Given the description of an element on the screen output the (x, y) to click on. 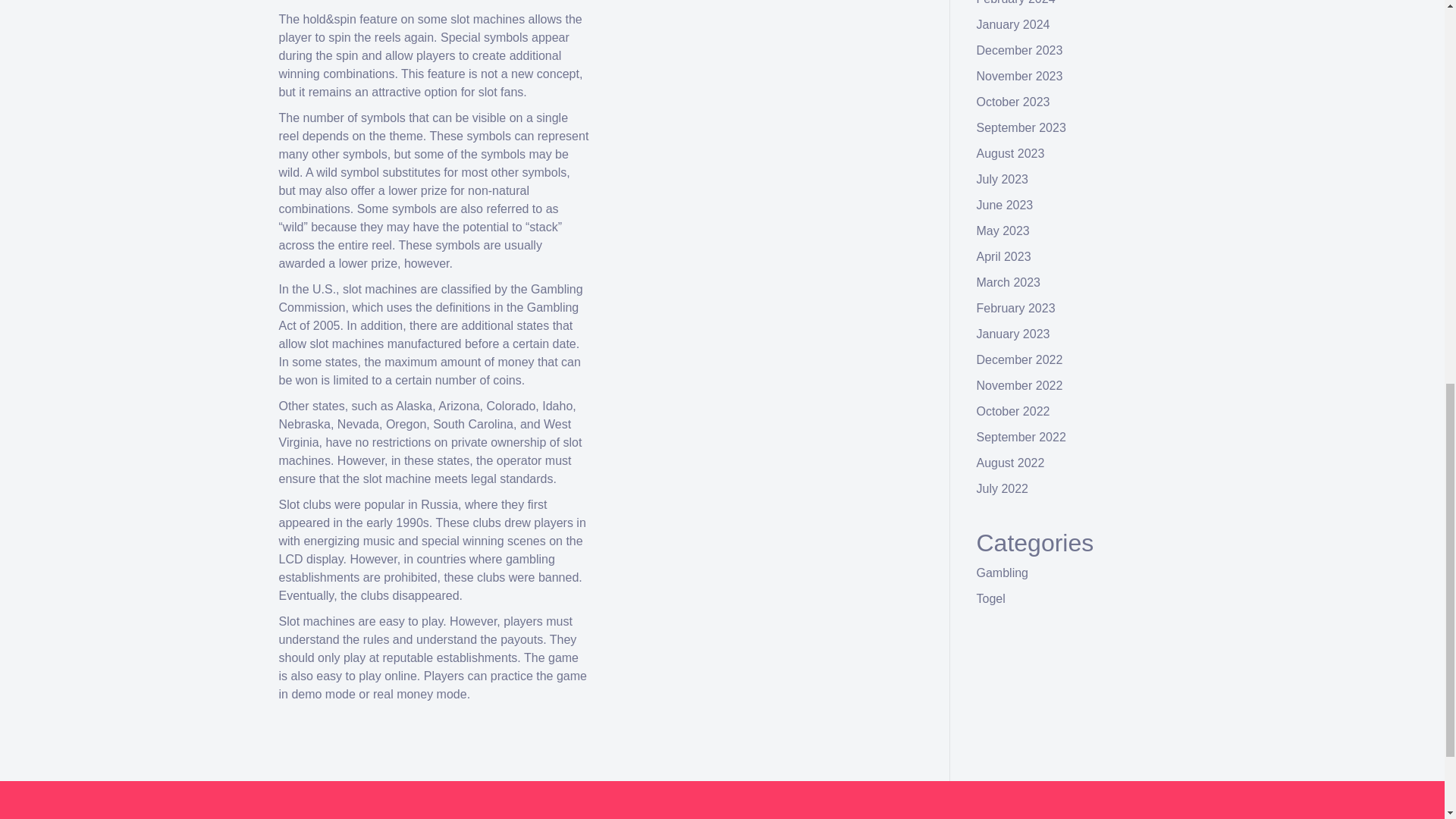
December 2022 (1019, 359)
February 2023 (1015, 308)
October 2023 (1012, 101)
December 2023 (1019, 50)
April 2023 (1003, 256)
March 2023 (1008, 282)
January 2024 (1012, 24)
July 2023 (1002, 178)
August 2023 (1010, 153)
November 2023 (1019, 75)
September 2023 (1020, 127)
May 2023 (1002, 230)
February 2024 (1015, 2)
June 2023 (1004, 205)
November 2022 (1019, 385)
